Given the description of an element on the screen output the (x, y) to click on. 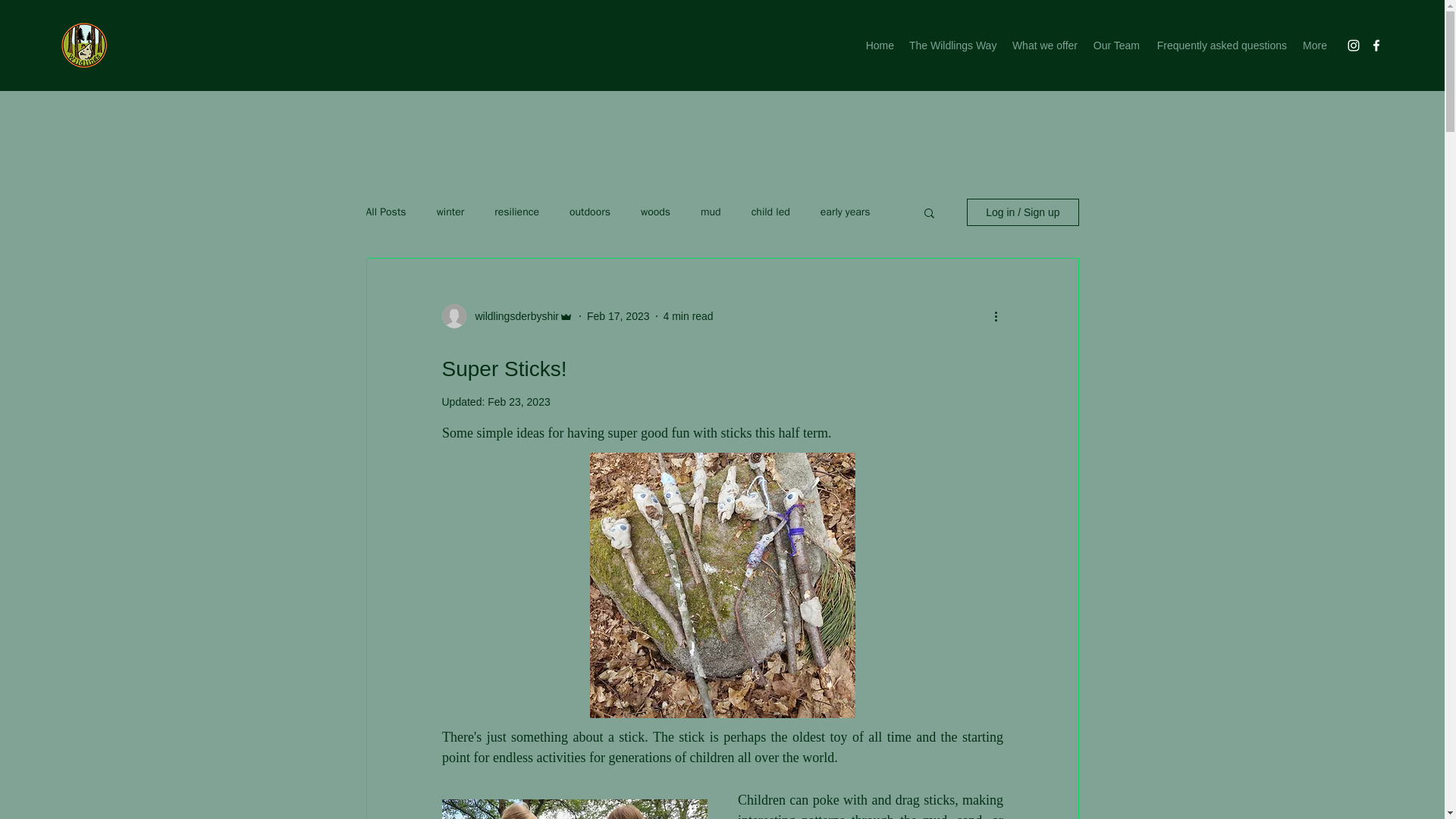
outdoors (589, 212)
wildlingsderbyshir (512, 315)
mud (710, 212)
Home (879, 45)
Feb 17, 2023 (617, 315)
resilience (516, 212)
What we offer (1043, 45)
woods (654, 212)
winter (450, 212)
All Posts (385, 212)
